Given the description of an element on the screen output the (x, y) to click on. 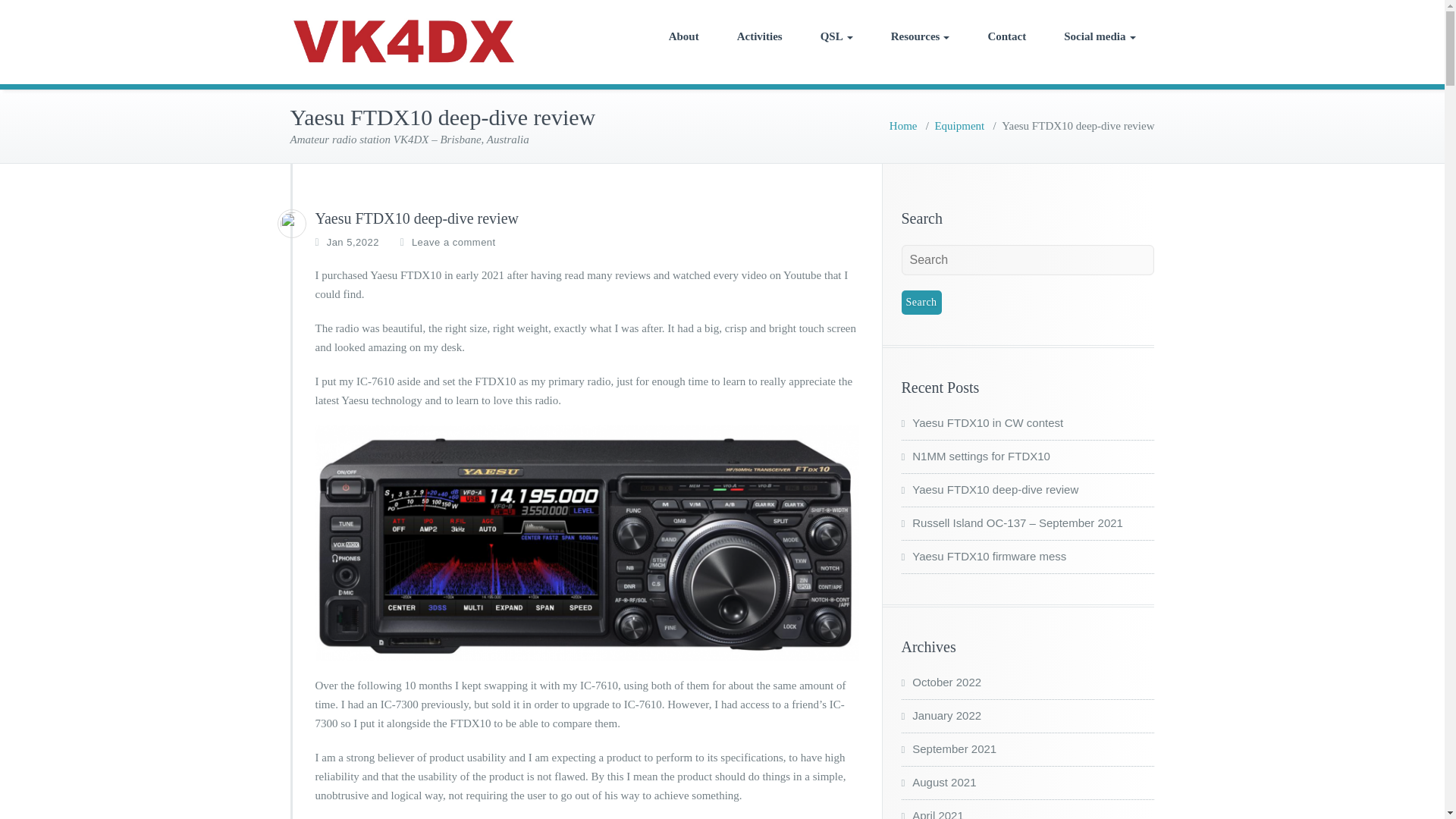
September 2021 (948, 748)
Contact (1006, 36)
October 2022 (941, 681)
Search (920, 302)
Search (920, 302)
Yaesu FTDX10 in CW contest (981, 422)
About (683, 36)
QSL (837, 36)
Social media (1099, 36)
Leave a comment (454, 242)
Home (903, 125)
N1MM settings for FTDX10 (975, 455)
Jan 5,2022 (352, 242)
Yaesu FTDX10 firmware mess (983, 555)
Activities (759, 36)
